Given the description of an element on the screen output the (x, y) to click on. 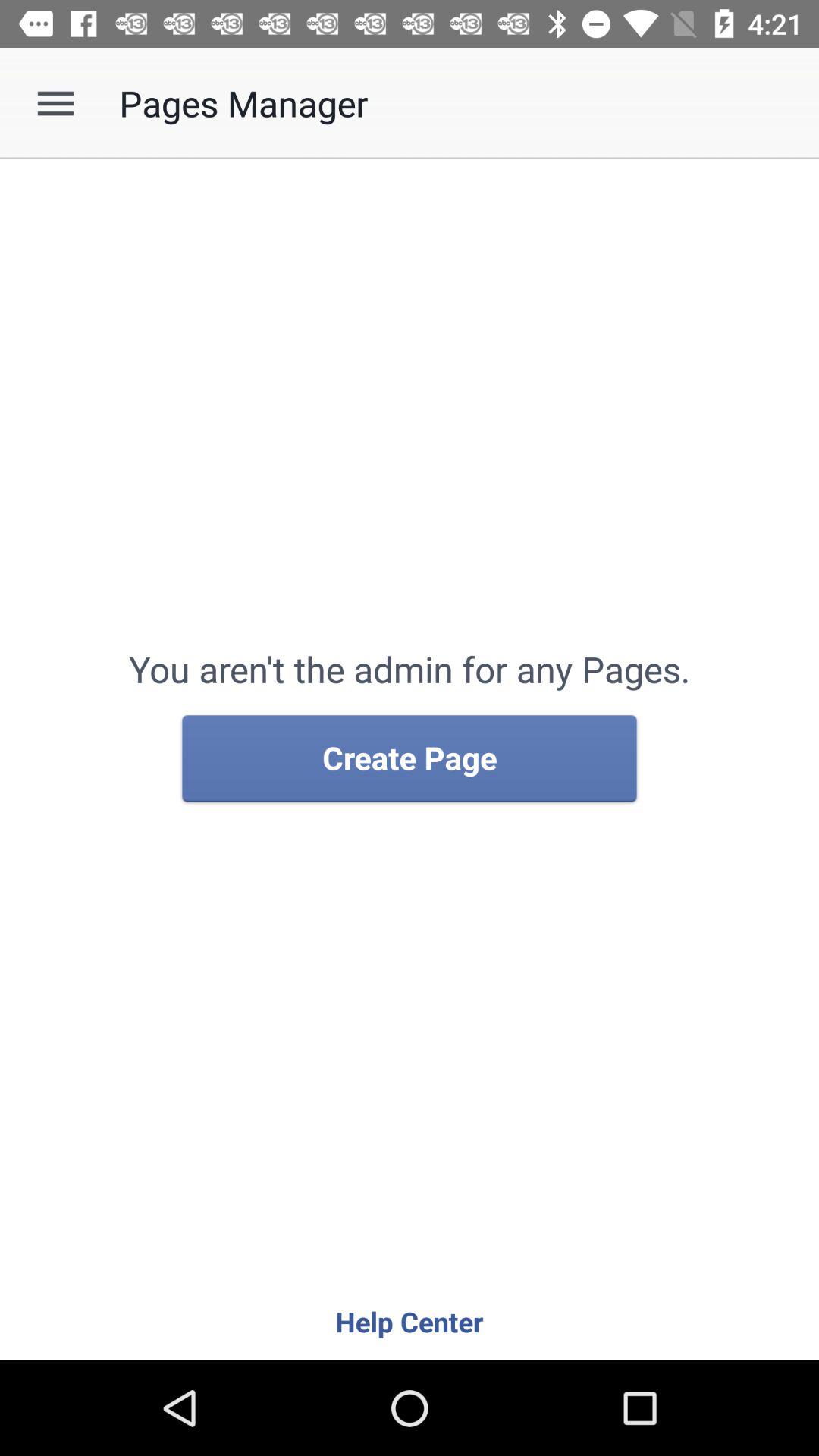
scroll until create page (409, 759)
